Given the description of an element on the screen output the (x, y) to click on. 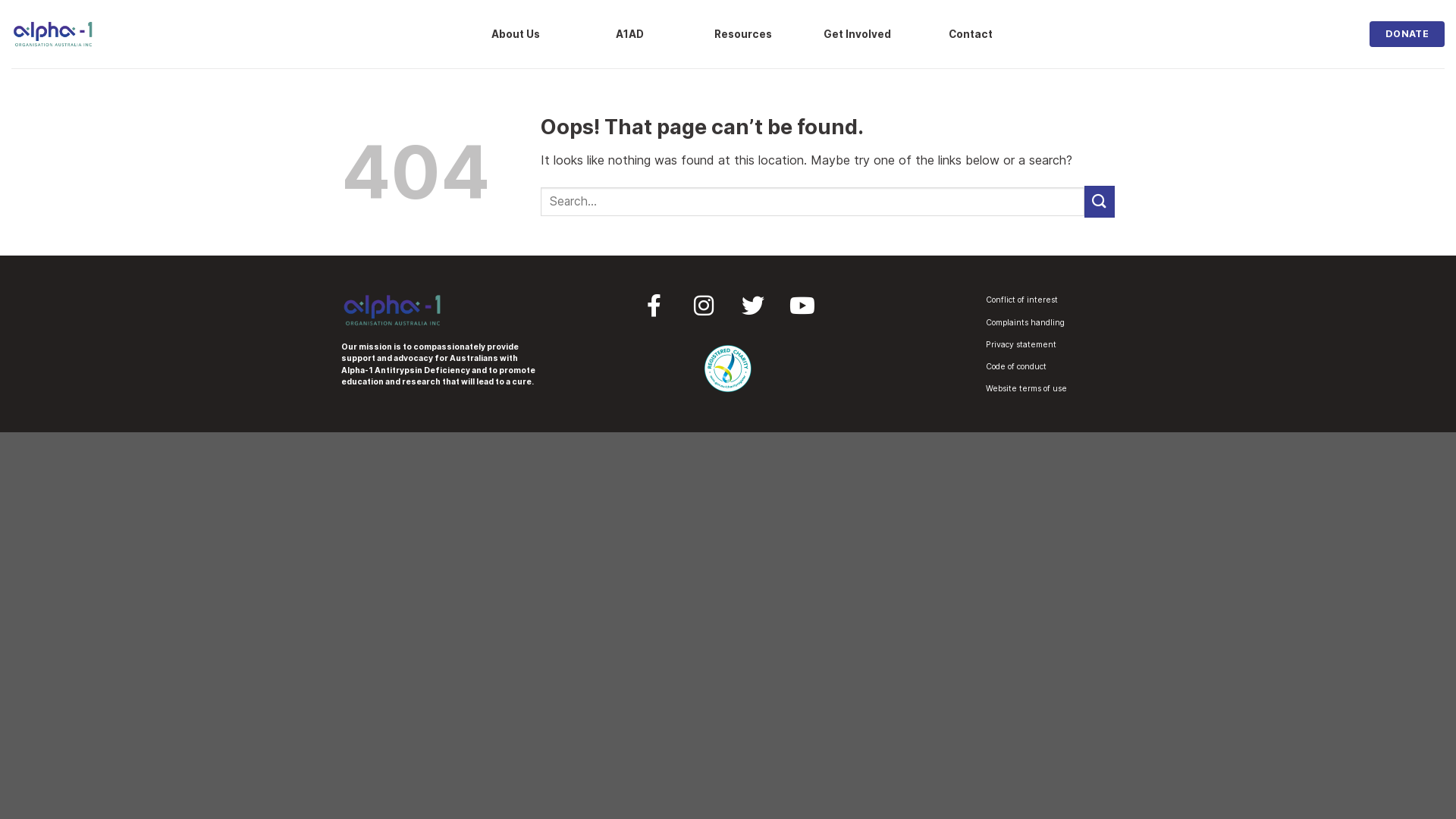
Contact Element type: text (970, 33)
Resources Element type: text (742, 33)
Conflict of interest Element type: text (1021, 299)
Complaints handling Element type: text (1024, 321)
Privacy statement Element type: text (1020, 344)
Get Involved Element type: text (857, 33)
Website terms of use Element type: text (1025, 388)
a1oa - www.a1oa.org.au Element type: hover (52, 34)
About Us Element type: text (515, 33)
A1AD Element type: text (629, 33)
Code of conduct Element type: text (1015, 366)
DONATE Element type: text (1406, 34)
